Given the description of an element on the screen output the (x, y) to click on. 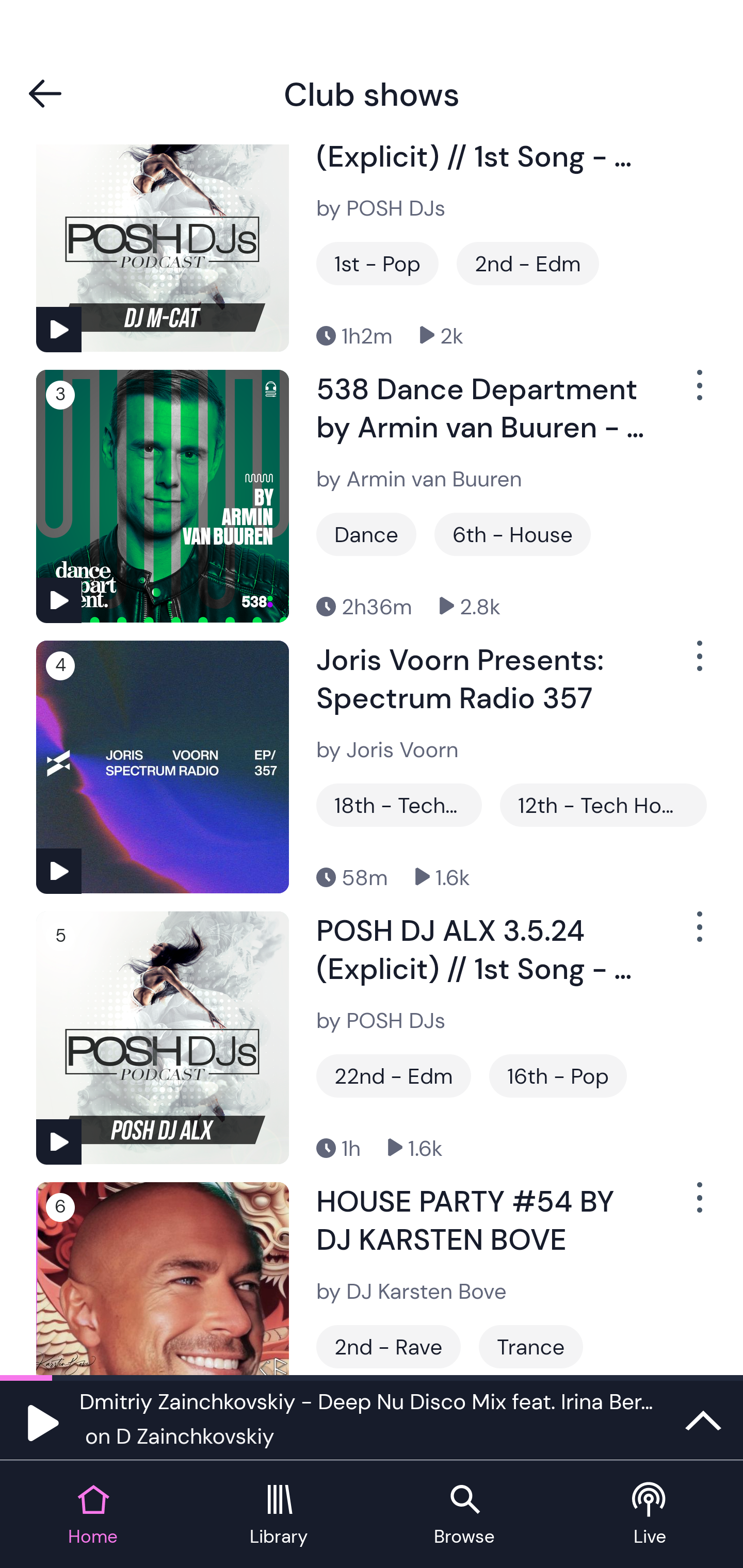
1st - Pop (377, 263)
2nd - Edm (527, 263)
Show Options Menu Button (697, 393)
Dance (366, 534)
6th - House (512, 534)
Show Options Menu Button (697, 663)
18th - Techno (399, 805)
12th - Tech House (603, 805)
Show Options Menu Button (697, 934)
22nd - Edm (393, 1075)
16th - Pop (557, 1075)
Show Options Menu Button (697, 1205)
2nd - Rave (388, 1346)
Trance (530, 1346)
Home tab Home (92, 1515)
Library tab Library (278, 1515)
Browse tab Browse (464, 1515)
Live tab Live (650, 1515)
